Given the description of an element on the screen output the (x, y) to click on. 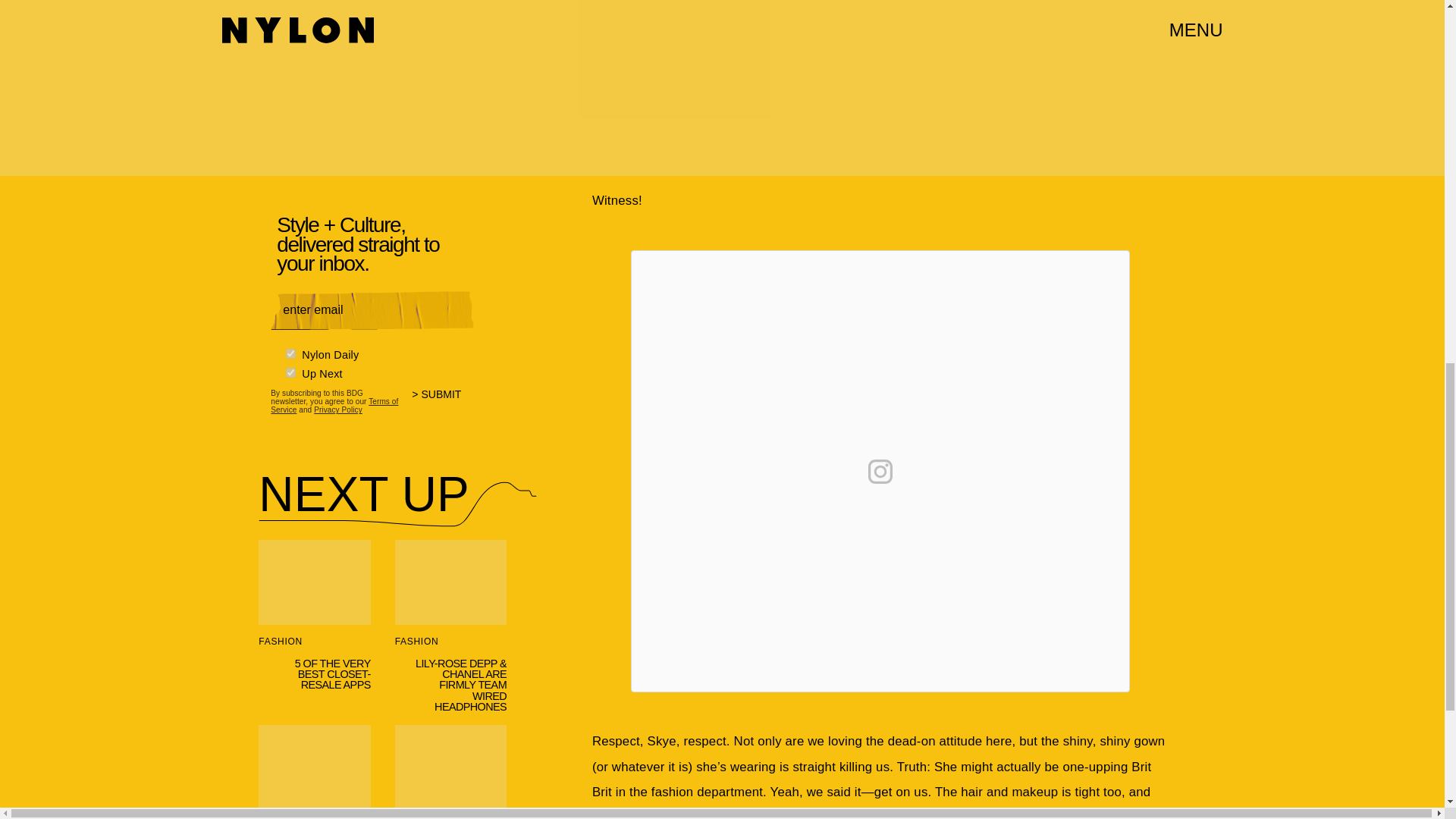
Terms of Service (333, 405)
View on Instagram (879, 471)
Privacy Policy (338, 409)
SUBMIT (443, 404)
